Given the description of an element on the screen output the (x, y) to click on. 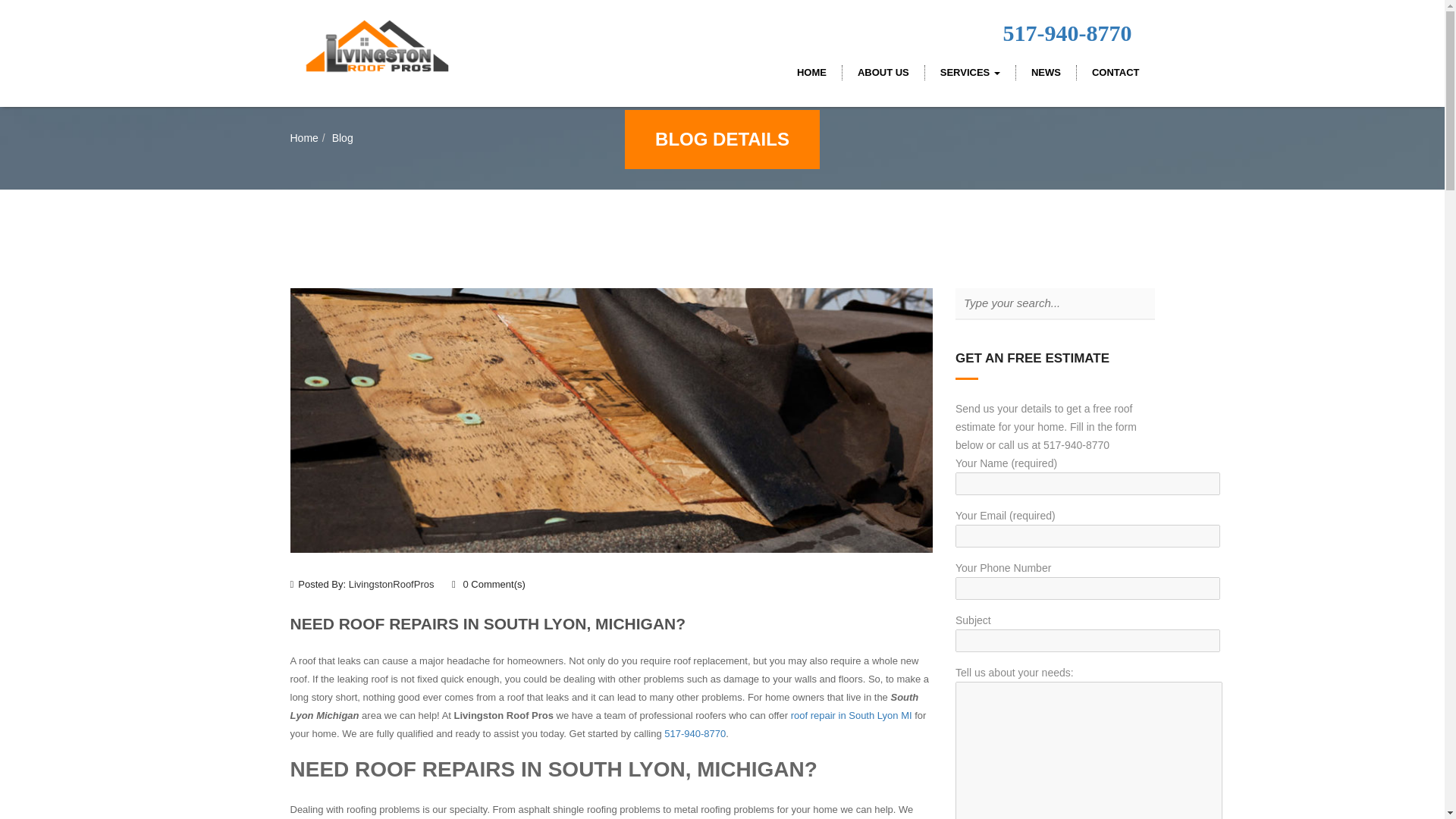
NEWS (1044, 72)
517-940-8770 (1067, 32)
LivingstonRoofPros (391, 583)
Livingston Roof Pros (373, 38)
ABOUT US (882, 72)
SERVICES (969, 72)
roof repair in South Lyon MI (849, 715)
HOME (811, 72)
Posts by LivingstonRoofPros (391, 583)
Blog (342, 137)
